Given the description of an element on the screen output the (x, y) to click on. 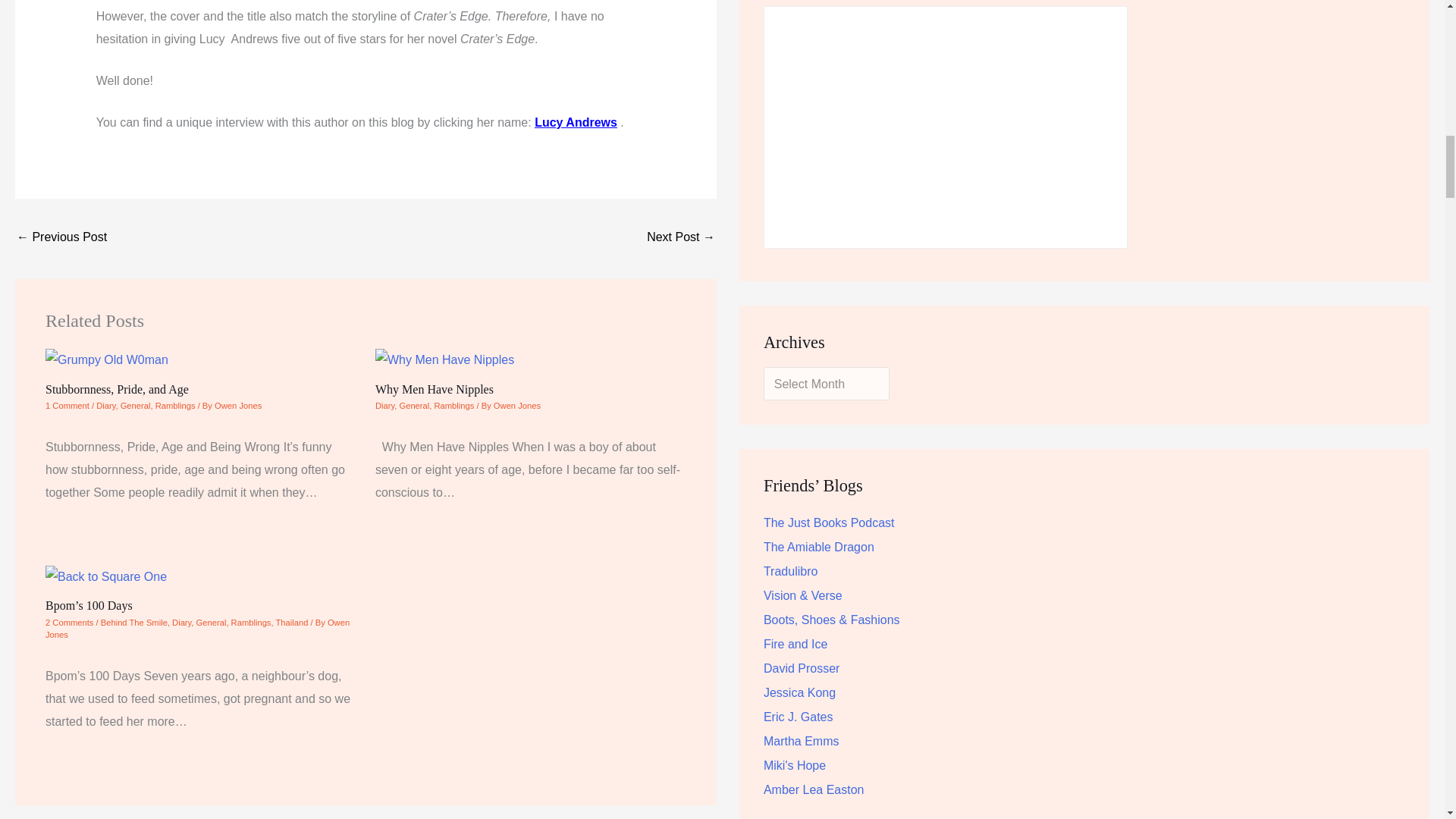
1 Comment (66, 405)
PLR Can Be Useful for Authors (680, 238)
General (135, 405)
Diary (105, 405)
Lucy Andrews (575, 122)
View all posts by Owen Jones (197, 628)
Uses for PLR (61, 238)
Stubbornness, Pride, and Age (117, 389)
View all posts by Owen Jones (238, 405)
View all posts by Owen Jones (516, 405)
